Given the description of an element on the screen output the (x, y) to click on. 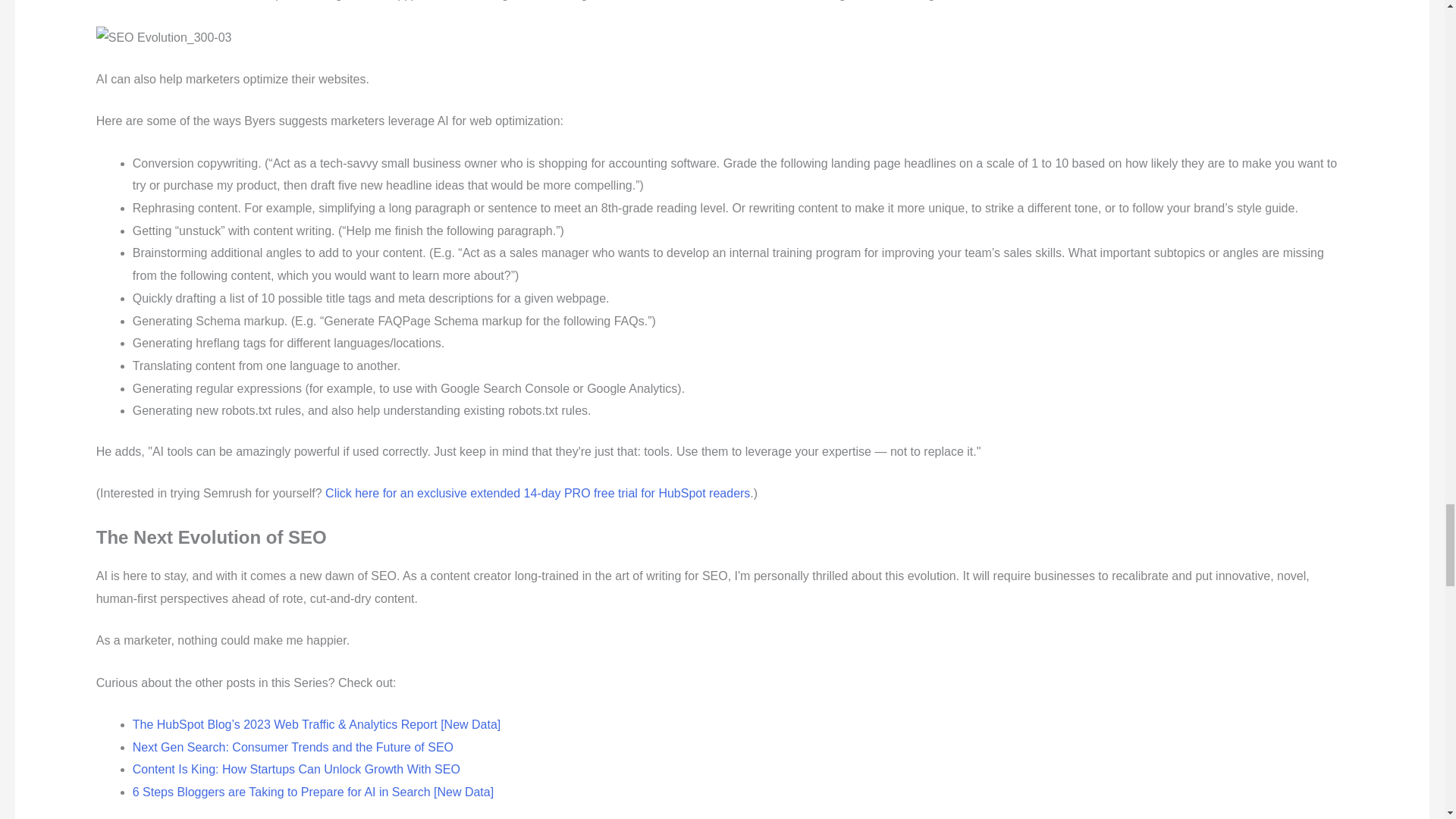
Next Gen Search: Consumer Trends and the Future of SEO (292, 746)
Content Is King: How Startups Can Unlock Growth With SEO (296, 768)
